Given the description of an element on the screen output the (x, y) to click on. 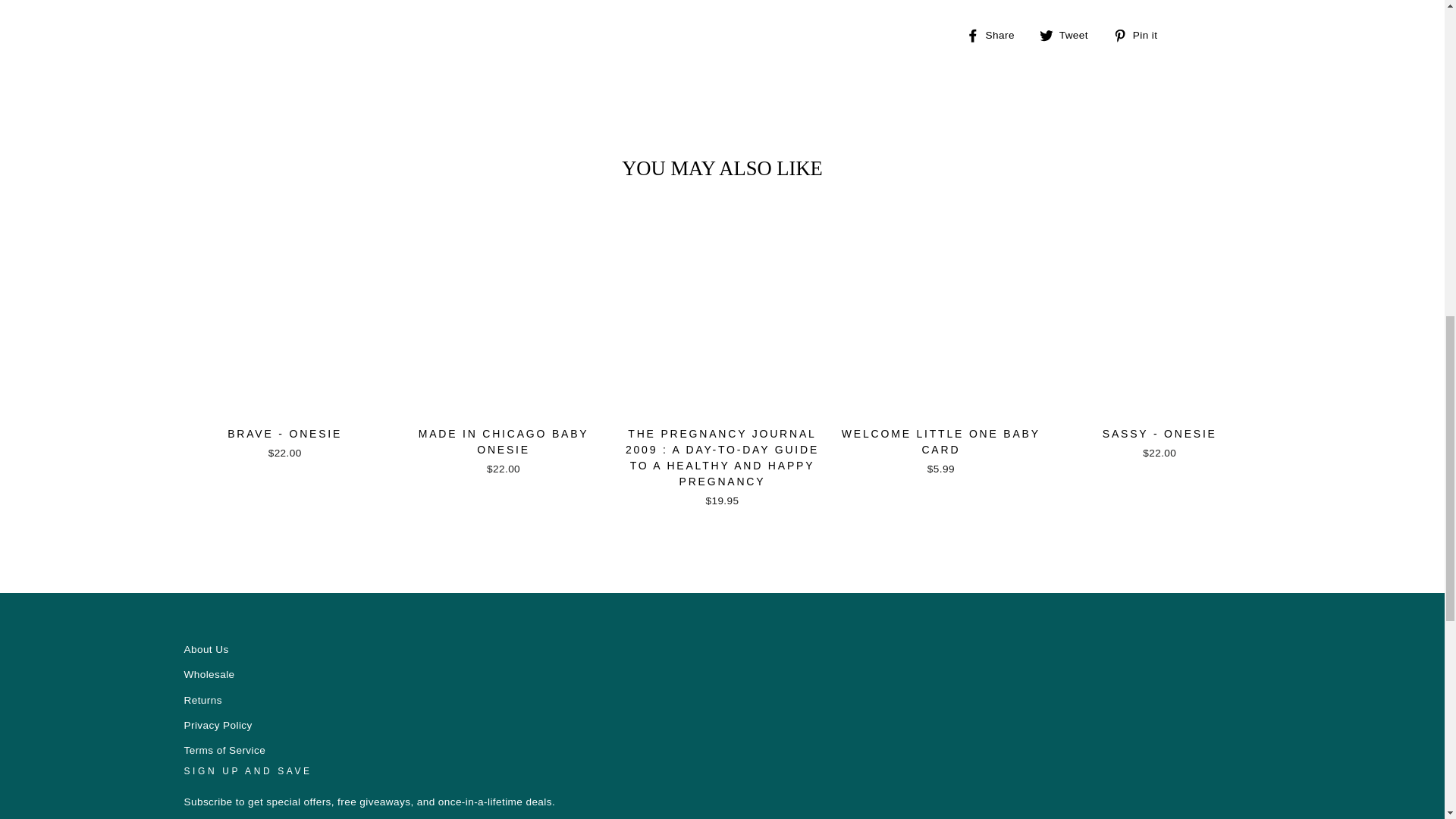
Share on Facebook (996, 35)
Tweet on Twitter (1069, 35)
Pin on Pinterest (1141, 35)
